Given the description of an element on the screen output the (x, y) to click on. 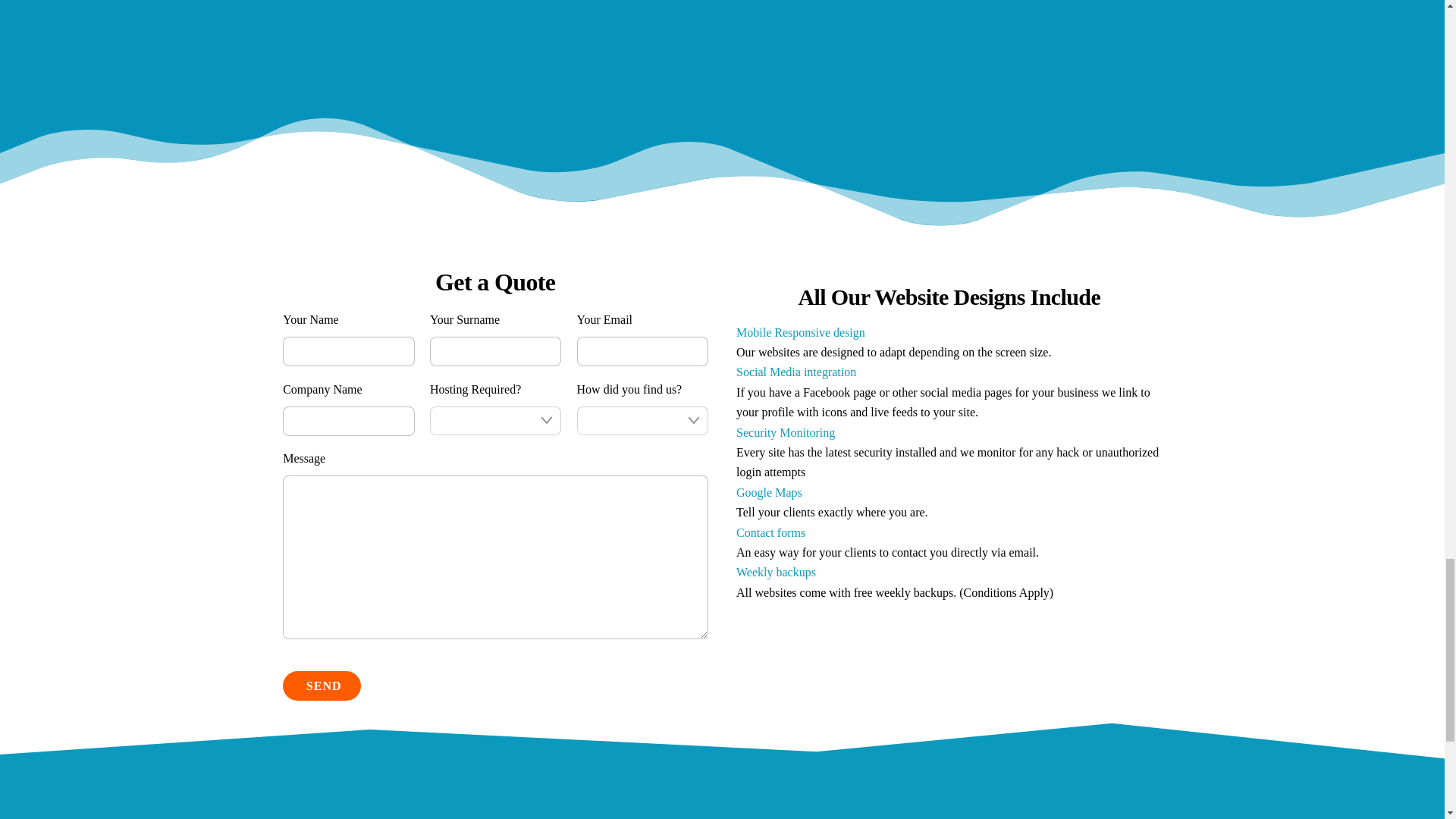
SEND (321, 685)
